Given the description of an element on the screen output the (x, y) to click on. 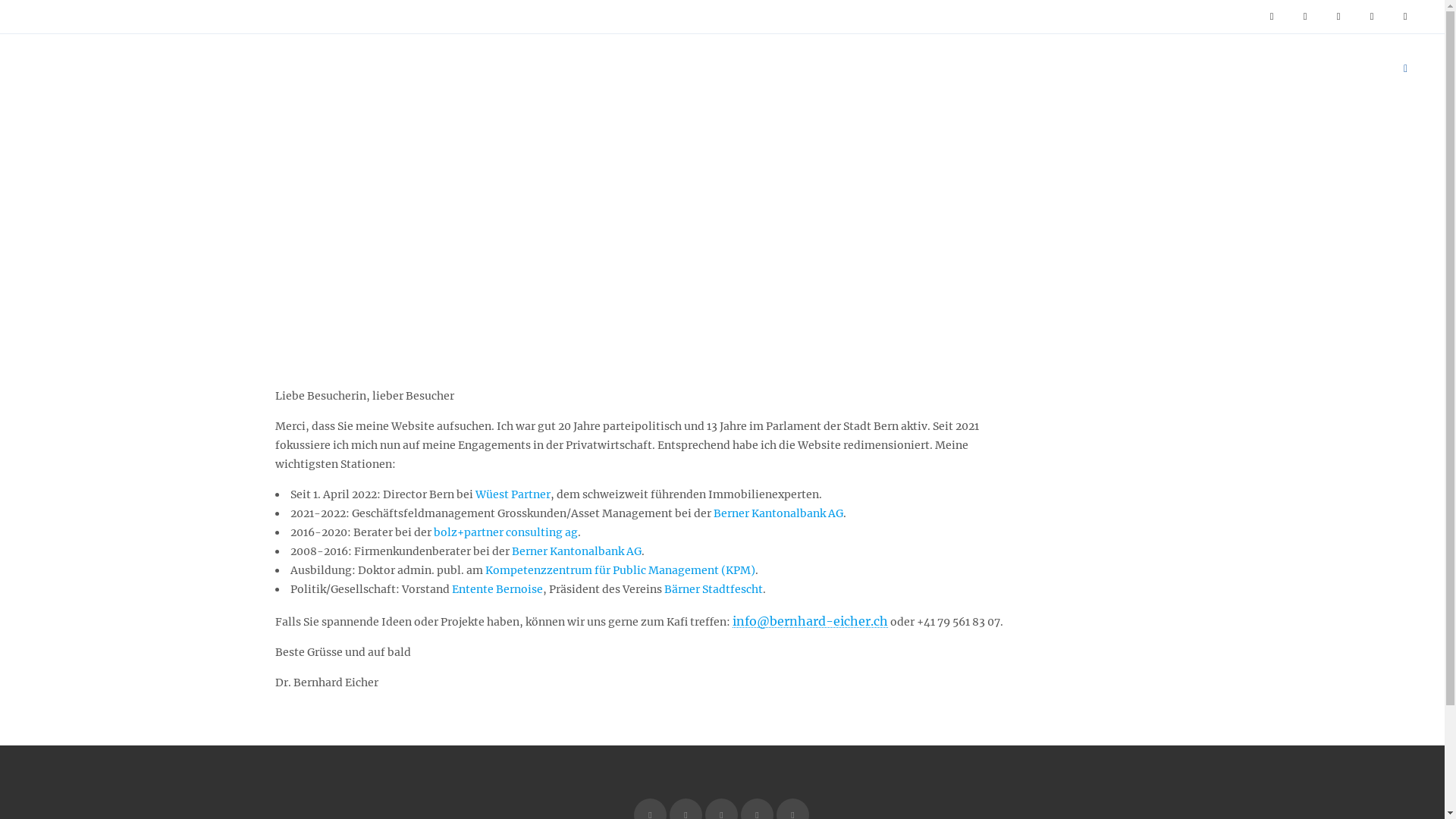
Entente Bernoise Element type: text (496, 589)
Twitter Element type: hover (1371, 16)
Facebook Element type: hover (1271, 16)
Instagram Element type: hover (1304, 16)
Berner Kantonalbank AG Element type: text (575, 551)
LinkedIN Element type: hover (1338, 16)
Berner Kantonalbank AG Element type: text (777, 513)
xing Element type: hover (1404, 16)
info@bernhard-eicher.ch Element type: text (810, 620)
bolz+partner consulting ag Element type: text (505, 532)
